Given the description of an element on the screen output the (x, y) to click on. 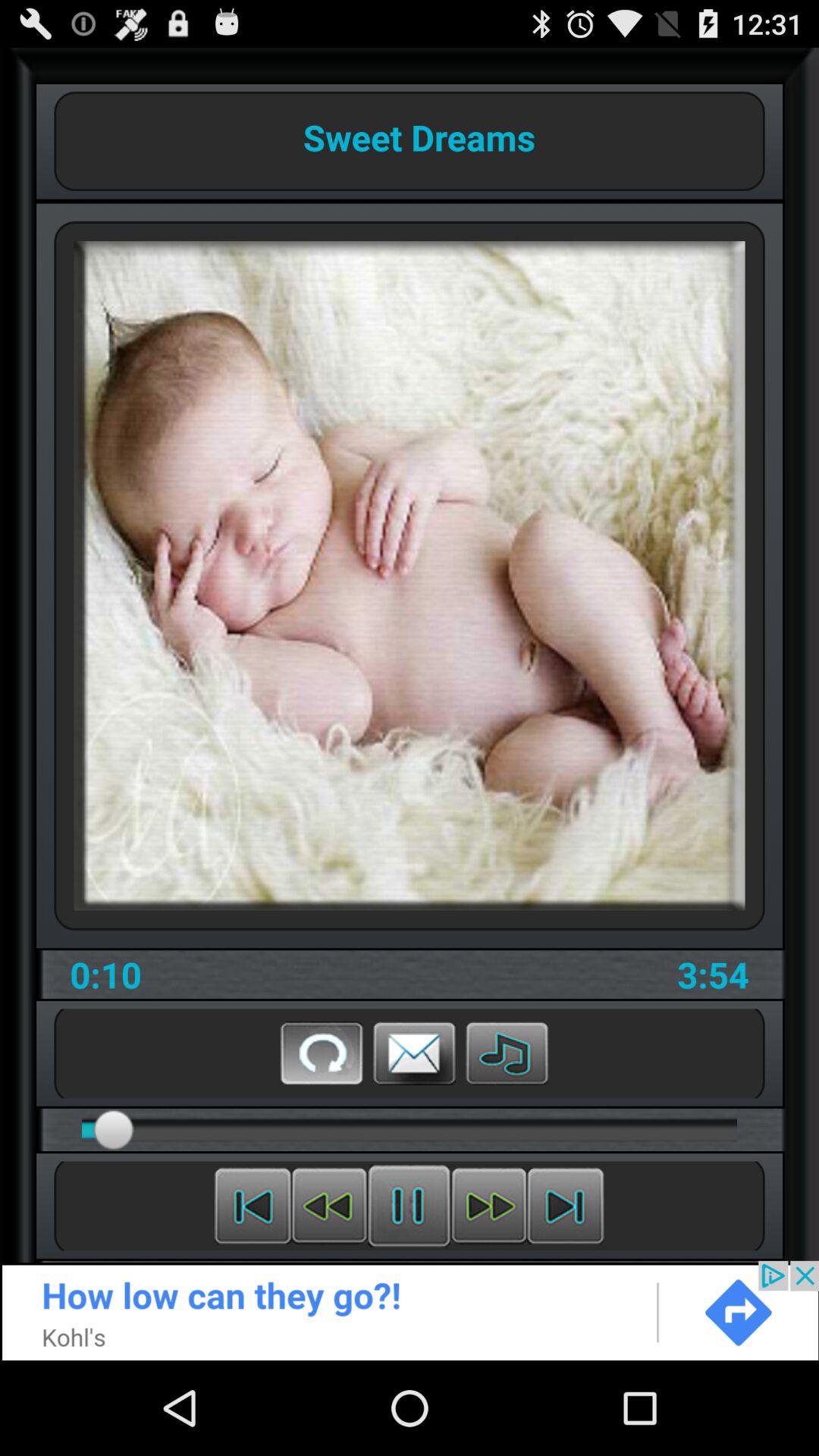
previous song/restart current song (252, 1205)
